Given the description of an element on the screen output the (x, y) to click on. 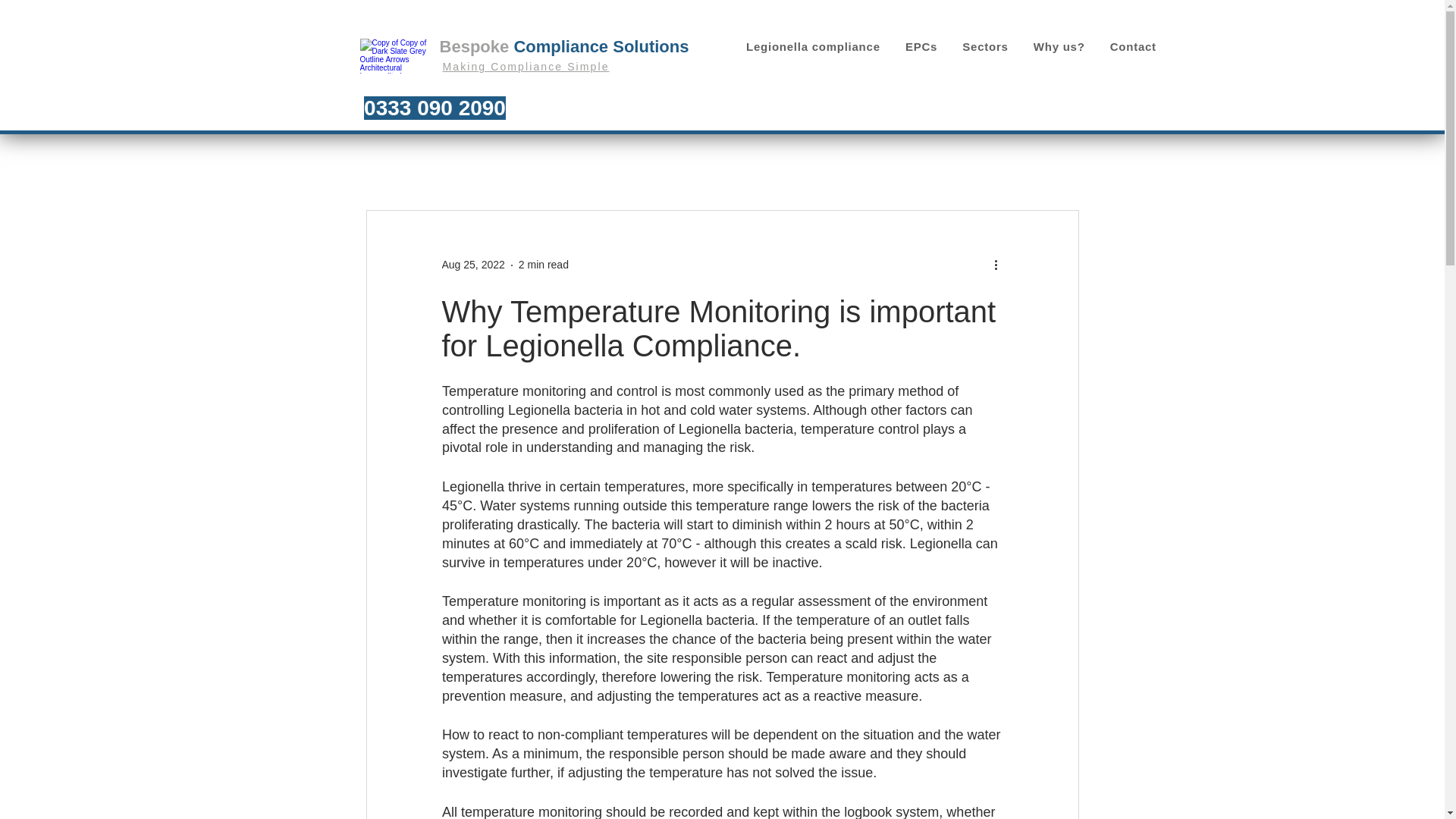
2 min read (543, 264)
Legionella compliance (812, 46)
EPCs (920, 46)
Making Compliance Simple (526, 66)
Contact (1133, 46)
Aug 25, 2022 (472, 264)
Why us? (1058, 46)
Sectors (985, 46)
0333 090 2090 (434, 107)
Bespoke Compliance Solutions (563, 46)
